Given the description of an element on the screen output the (x, y) to click on. 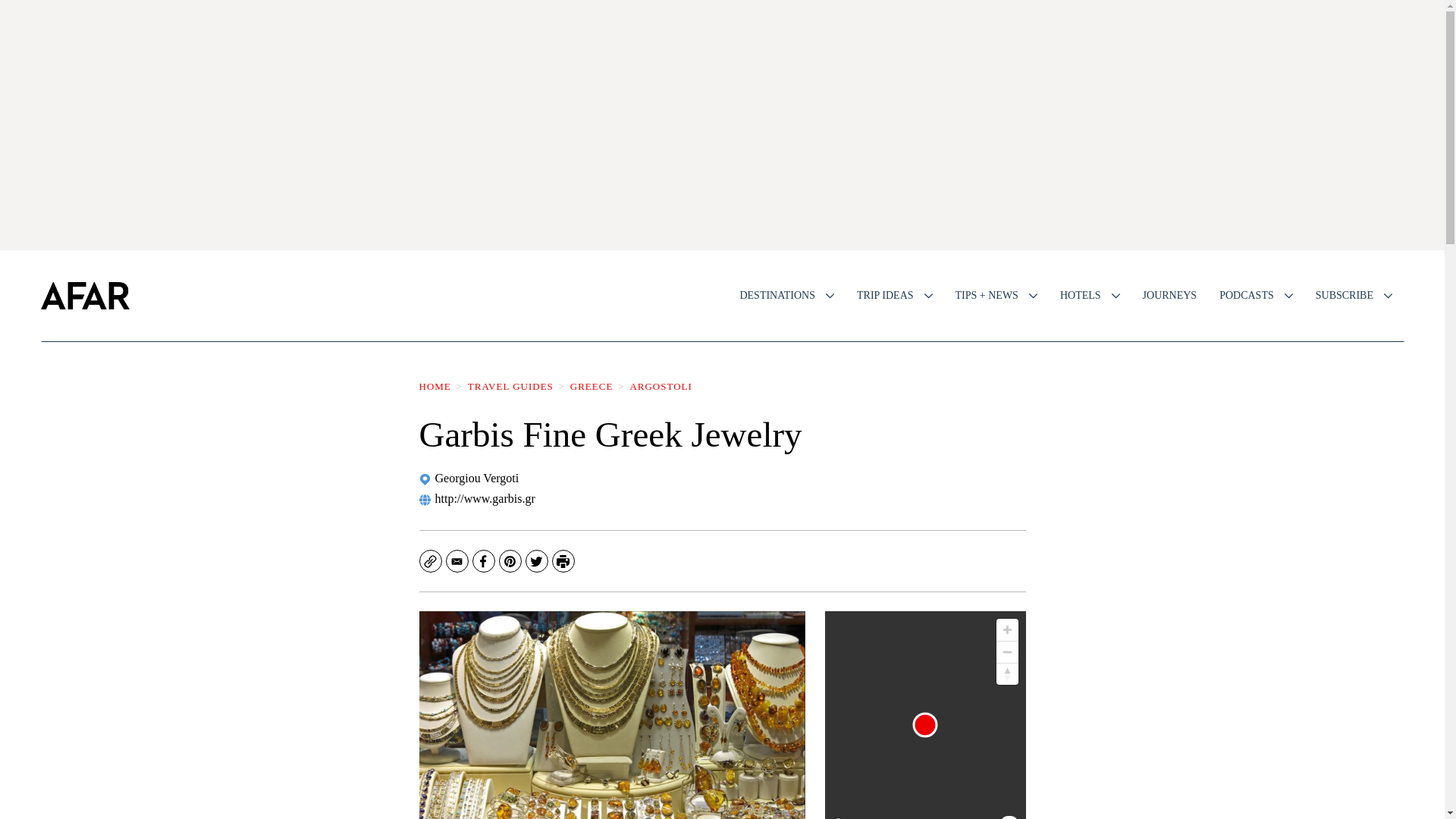
Reset bearing to north (1006, 673)
Zoom in (1006, 629)
Zoom out (1006, 651)
